Given the description of an element on the screen output the (x, y) to click on. 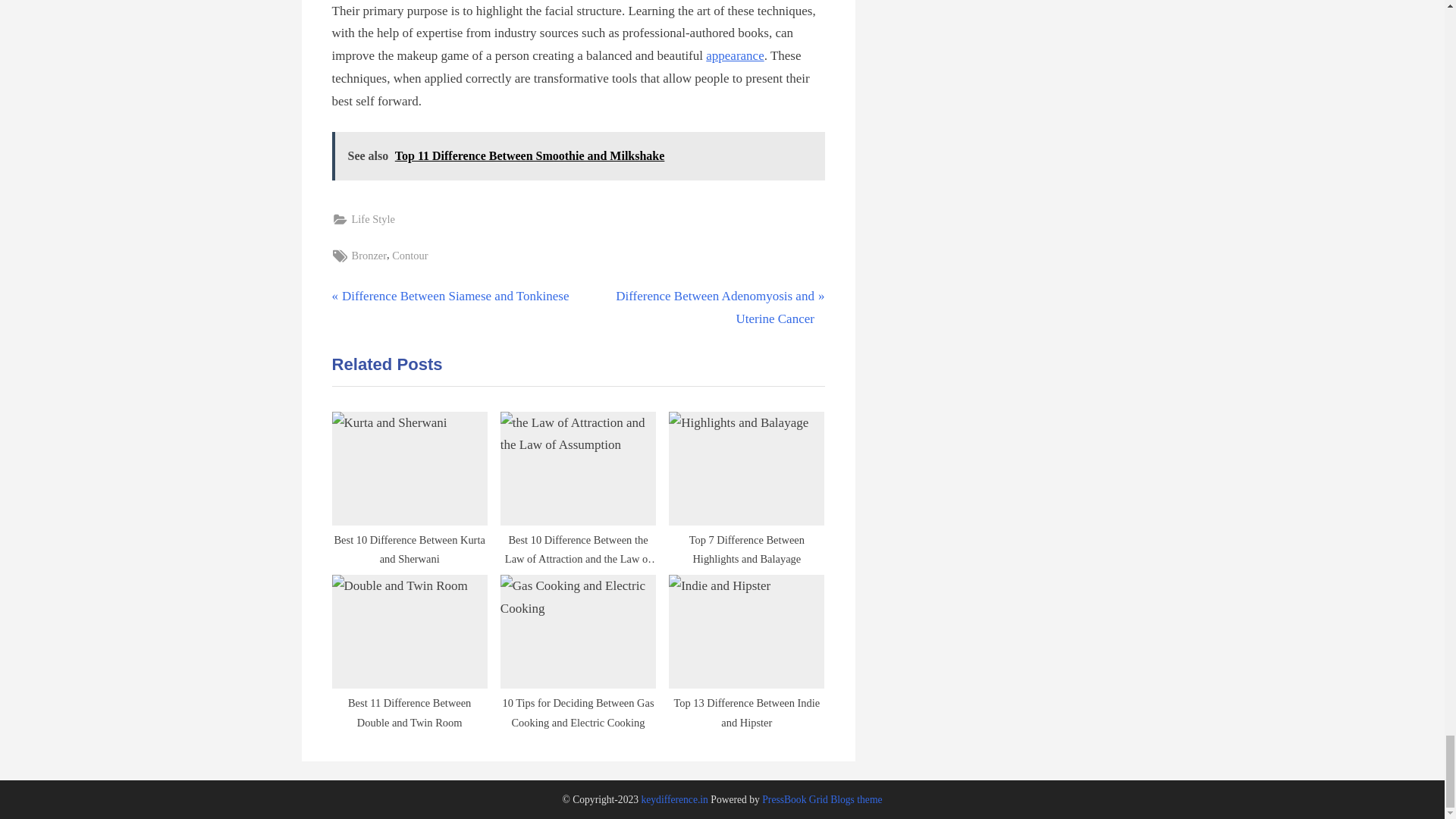
Bronzer (704, 307)
Best 10 Difference Between Kurta and Sherwani (369, 255)
Life Style (450, 296)
appearance (409, 483)
See also  Top 11 Difference Between Smoothie and Milkshake (373, 219)
Top 7 Difference Between Highlights and Balayage (734, 55)
Best 11 Difference Between Double and Twin Room (578, 155)
Contour (746, 483)
